Given the description of an element on the screen output the (x, y) to click on. 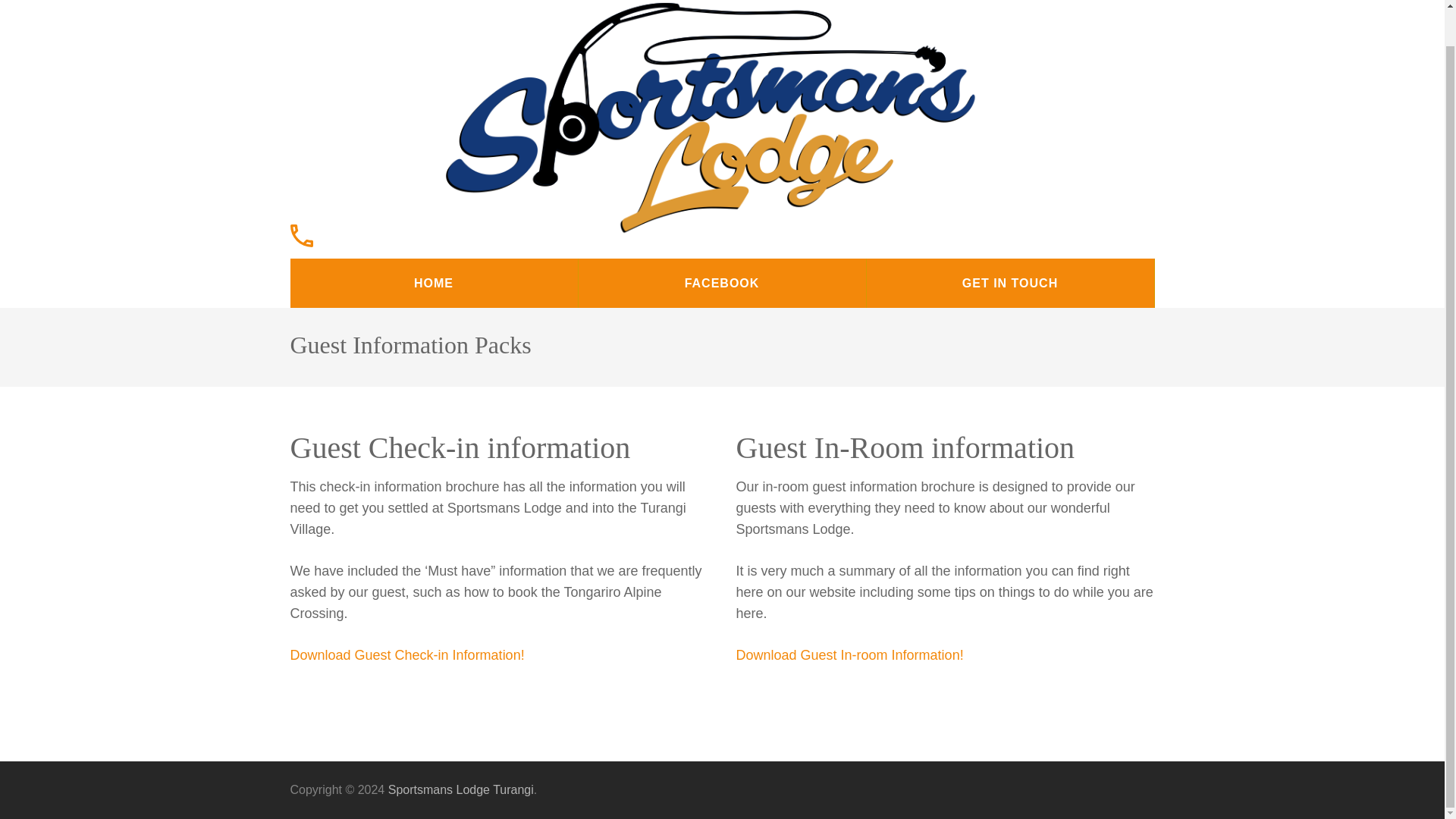
Download Guest In-room Information! (848, 654)
FACEBOOK (721, 282)
Download Guest Check-in Information! (406, 654)
Sportsmans Lodge Turangi (436, 252)
Sportsmans Lodge Turangi (461, 788)
HOME (432, 282)
GET IN TOUCH (1009, 282)
